Given the description of an element on the screen output the (x, y) to click on. 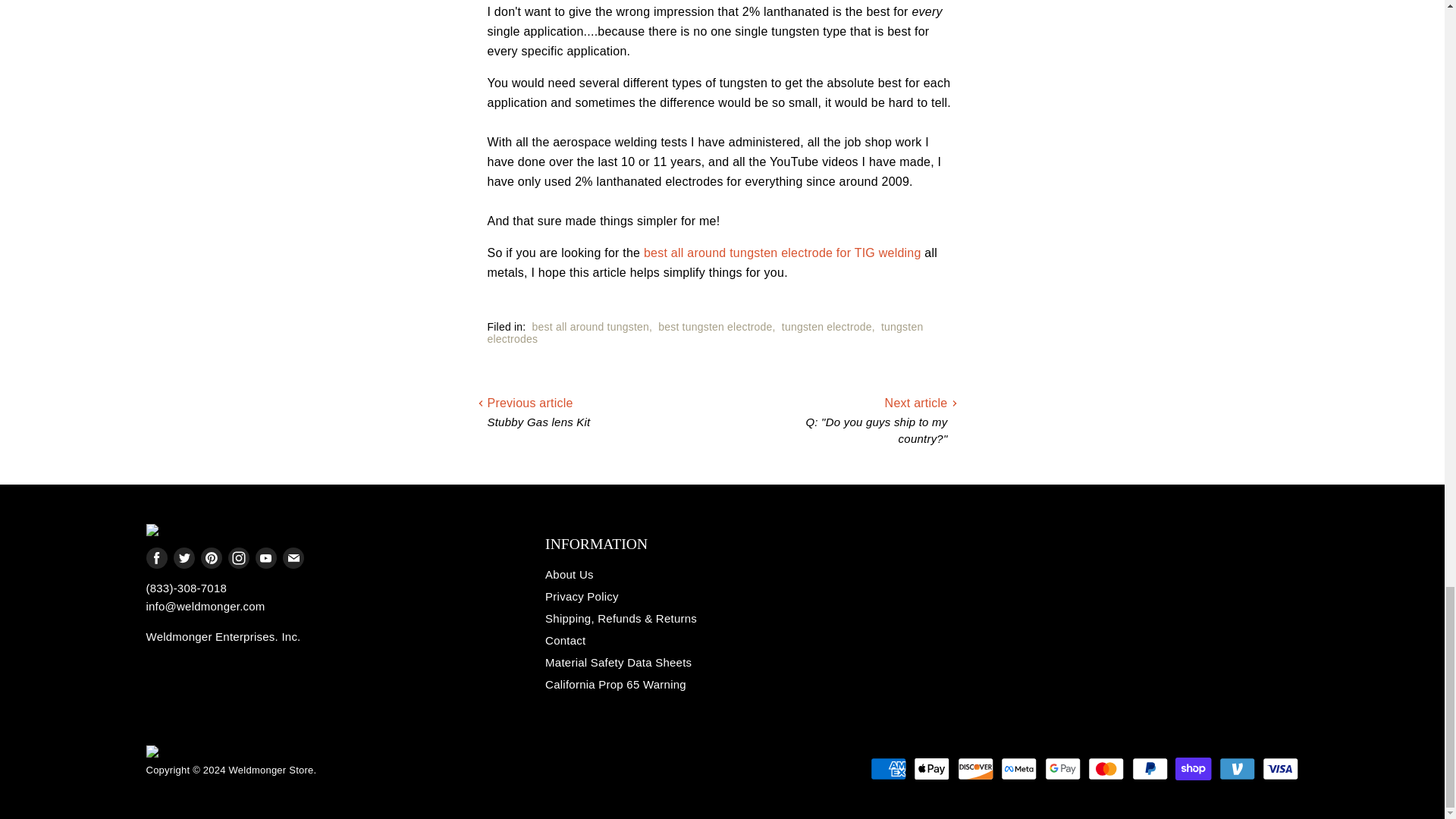
Youtube (265, 557)
Show articles tagged best all around tungsten (590, 326)
Show articles tagged best tungsten electrode (714, 326)
Facebook (156, 557)
Instagram (237, 557)
Twitter (183, 557)
Show articles tagged tungsten electrodes (704, 332)
Pinterest (210, 557)
Show articles tagged tungsten electrode (826, 326)
E-mail (292, 557)
